Given the description of an element on the screen output the (x, y) to click on. 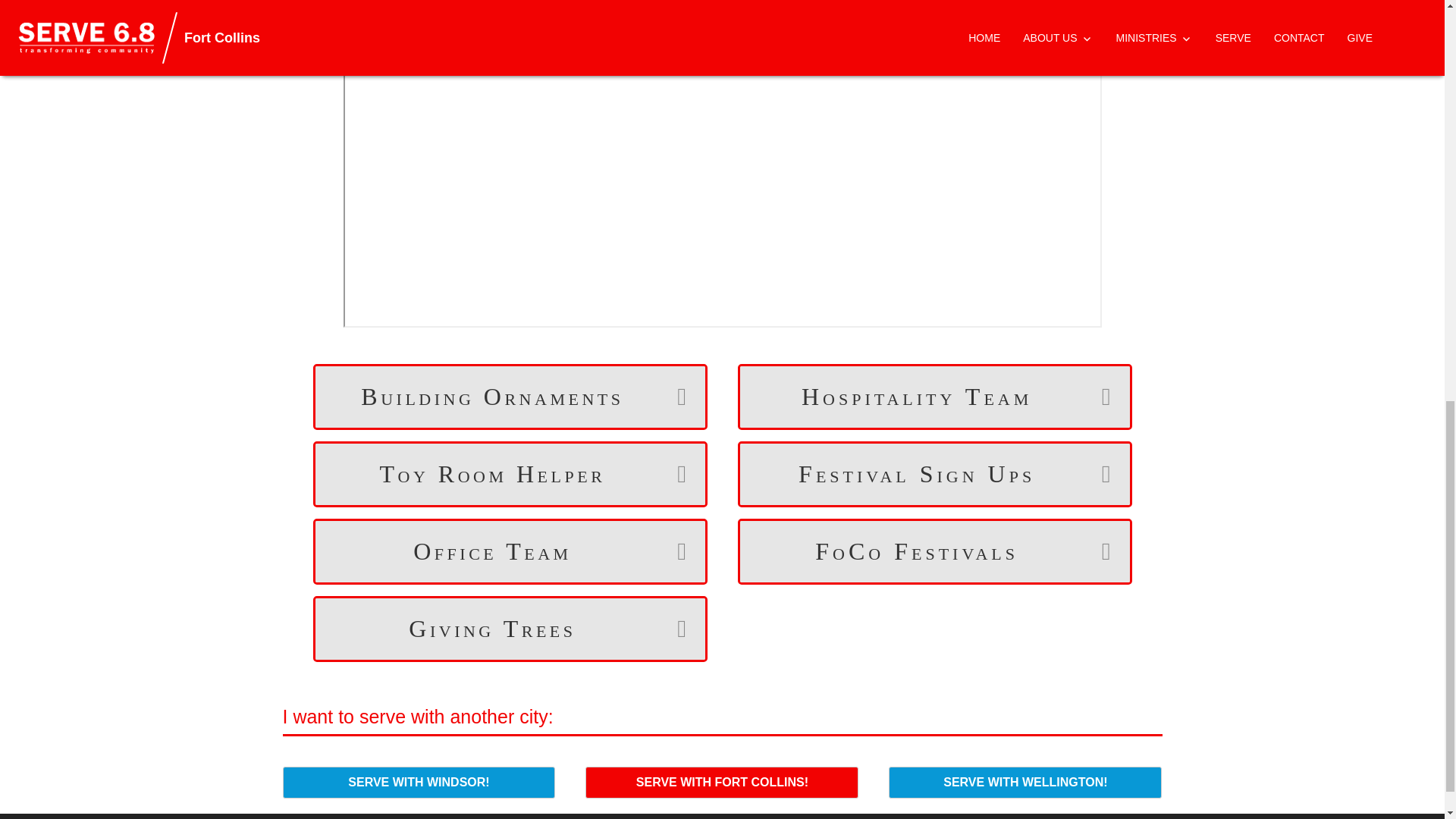
Expand (670, 628)
FoCo Festivals (916, 551)
Expand (1096, 474)
Hospitality Team (916, 396)
SERVE WITH WELLINGTON! (1024, 782)
Expand (1096, 551)
Building Ornaments (492, 396)
SERVE WITH WINDSOR! (418, 782)
Expand (670, 474)
Expand (1096, 396)
